Given the description of an element on the screen output the (x, y) to click on. 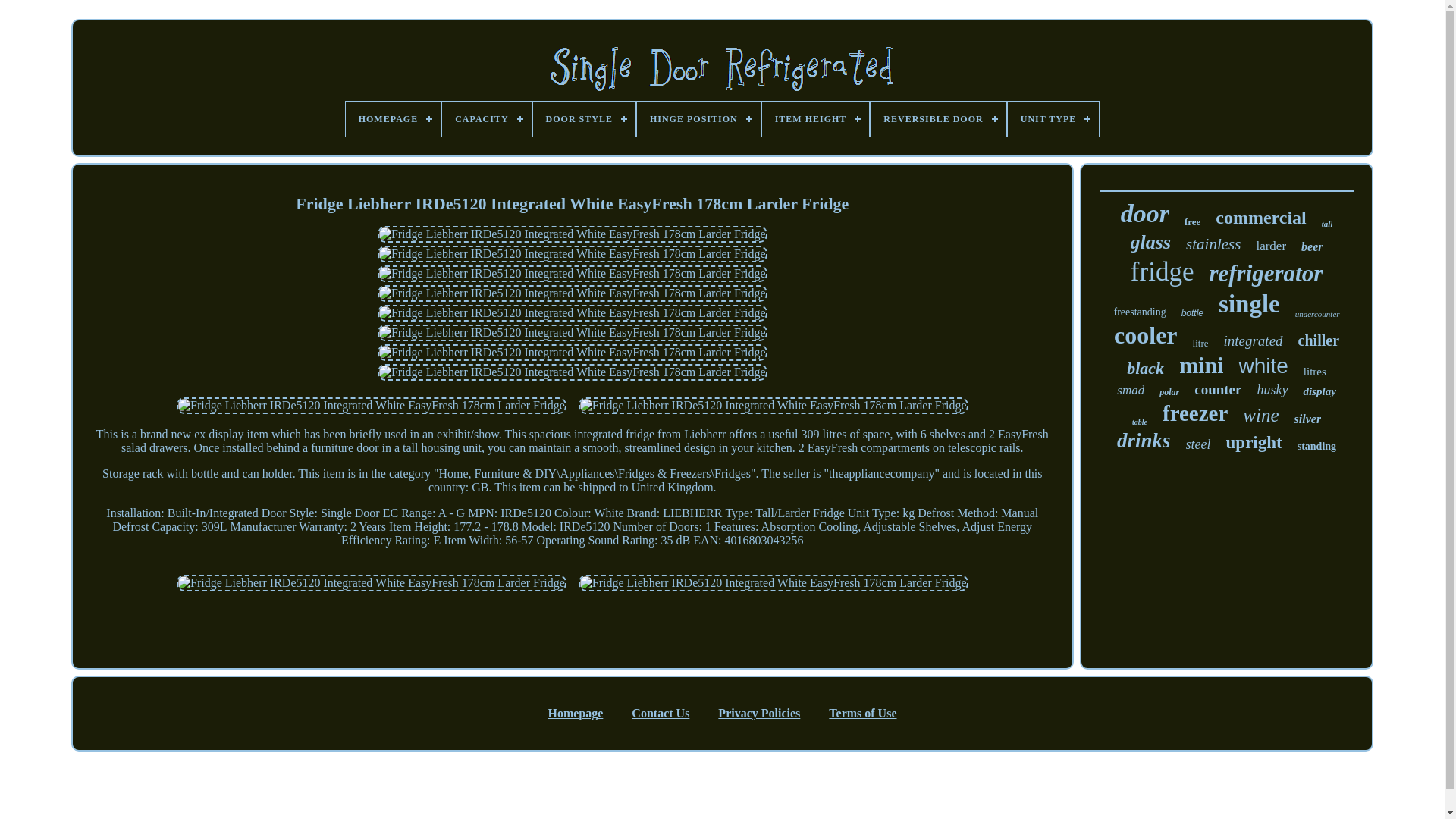
DOOR STYLE (583, 118)
HOMEPAGE (393, 118)
CAPACITY (486, 118)
